Given the description of an element on the screen output the (x, y) to click on. 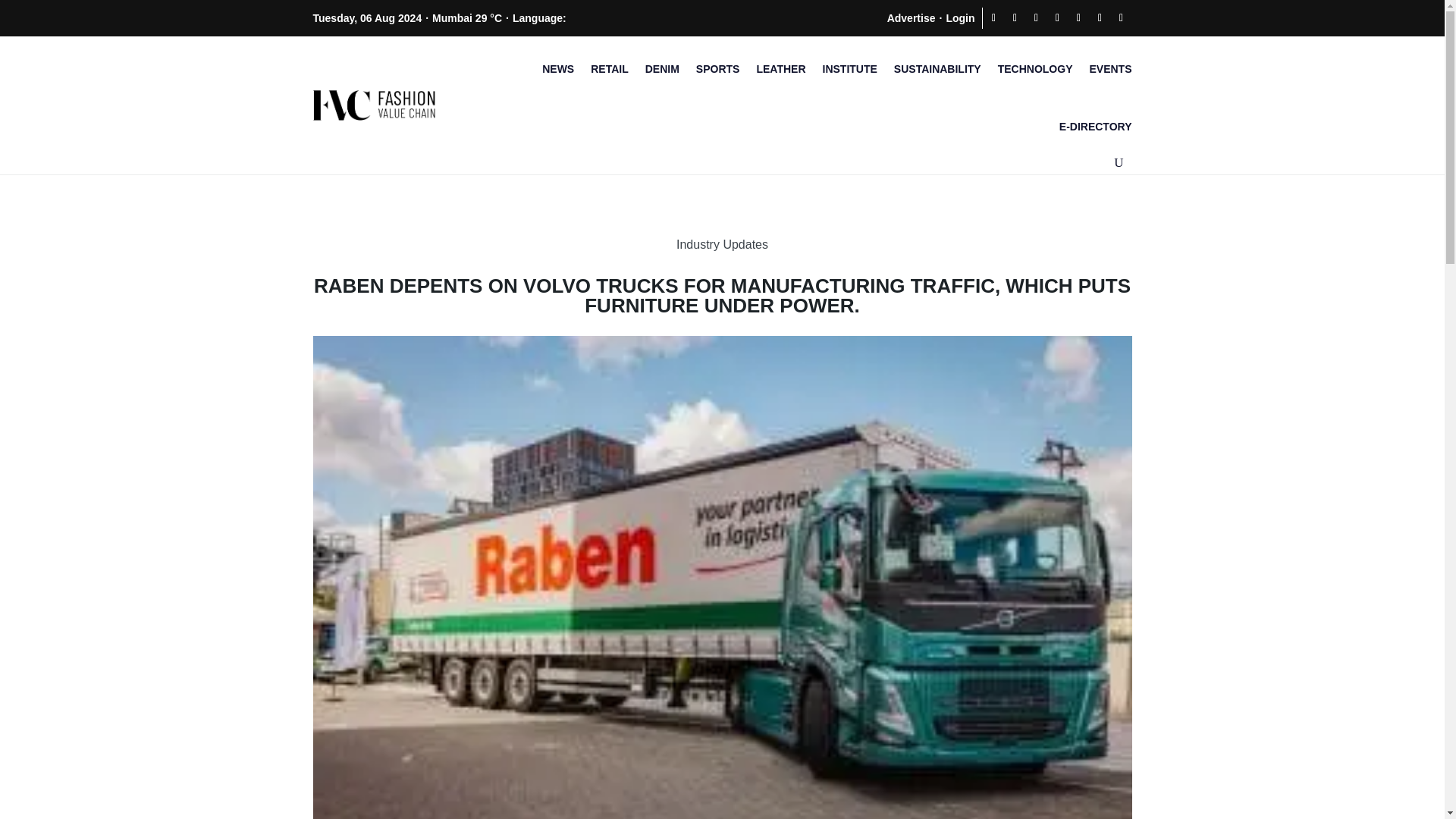
TECHNOLOGY (1035, 68)
Follow on WhatsApp (1120, 17)
Follow on Youtube (1078, 17)
Follow on Telegram (1099, 17)
Follow on Instagram (1035, 17)
SUSTAINABILITY (937, 68)
Follow on LinkedIn (1056, 17)
Follow on Facebook (993, 17)
Login (959, 17)
